Given the description of an element on the screen output the (x, y) to click on. 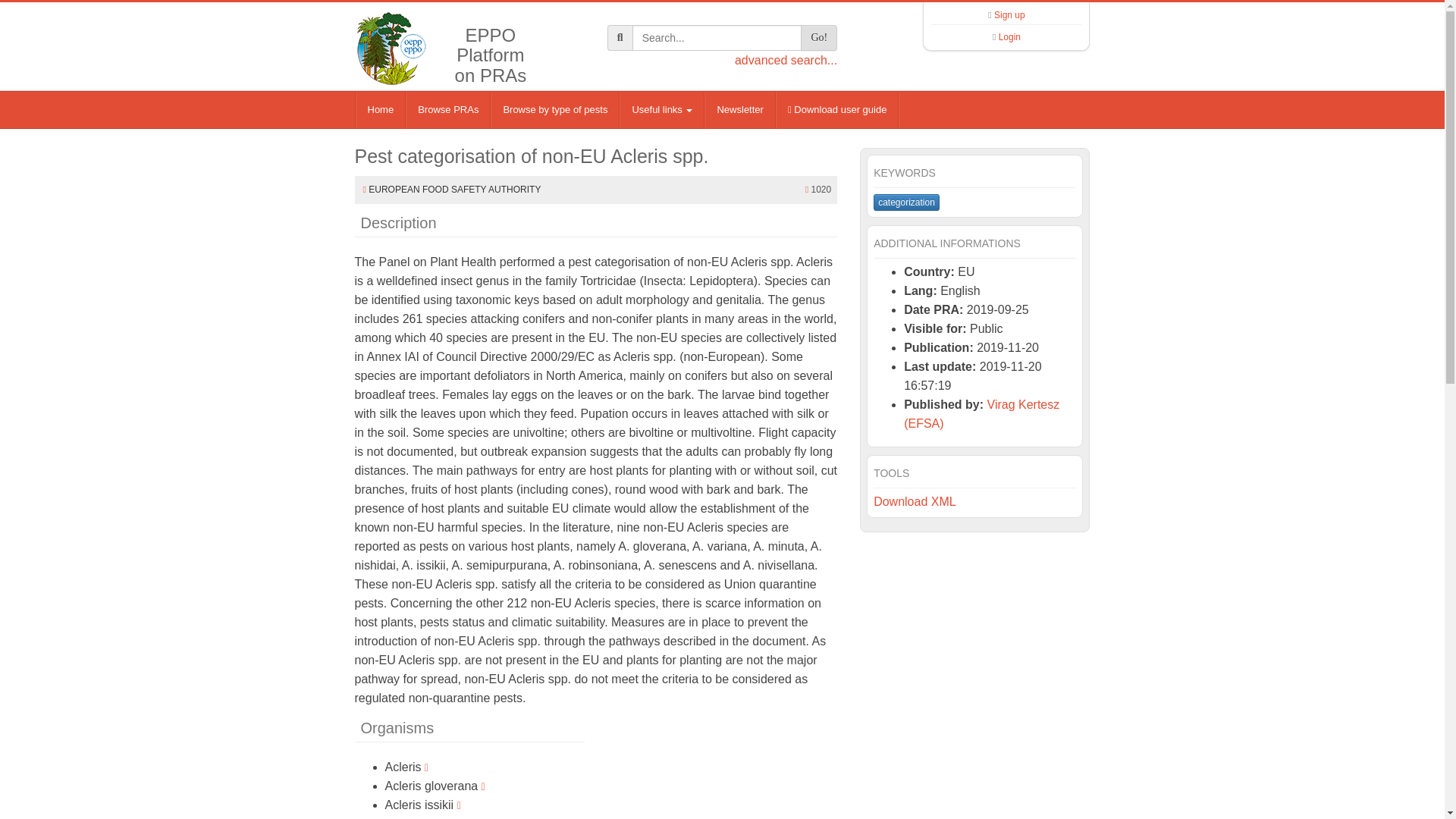
EUROPEAN FOOD SAFETY AUTHORITY (454, 189)
Sign up (1009, 14)
Home (380, 109)
Newsletter (739, 109)
Browse PRAs (448, 109)
advanced search... (786, 60)
Login (1009, 36)
Go! (818, 37)
Download user guide (837, 109)
Browse by type of pests (555, 109)
Useful links (662, 109)
Download XML (914, 501)
categorization (906, 202)
